Given the description of an element on the screen output the (x, y) to click on. 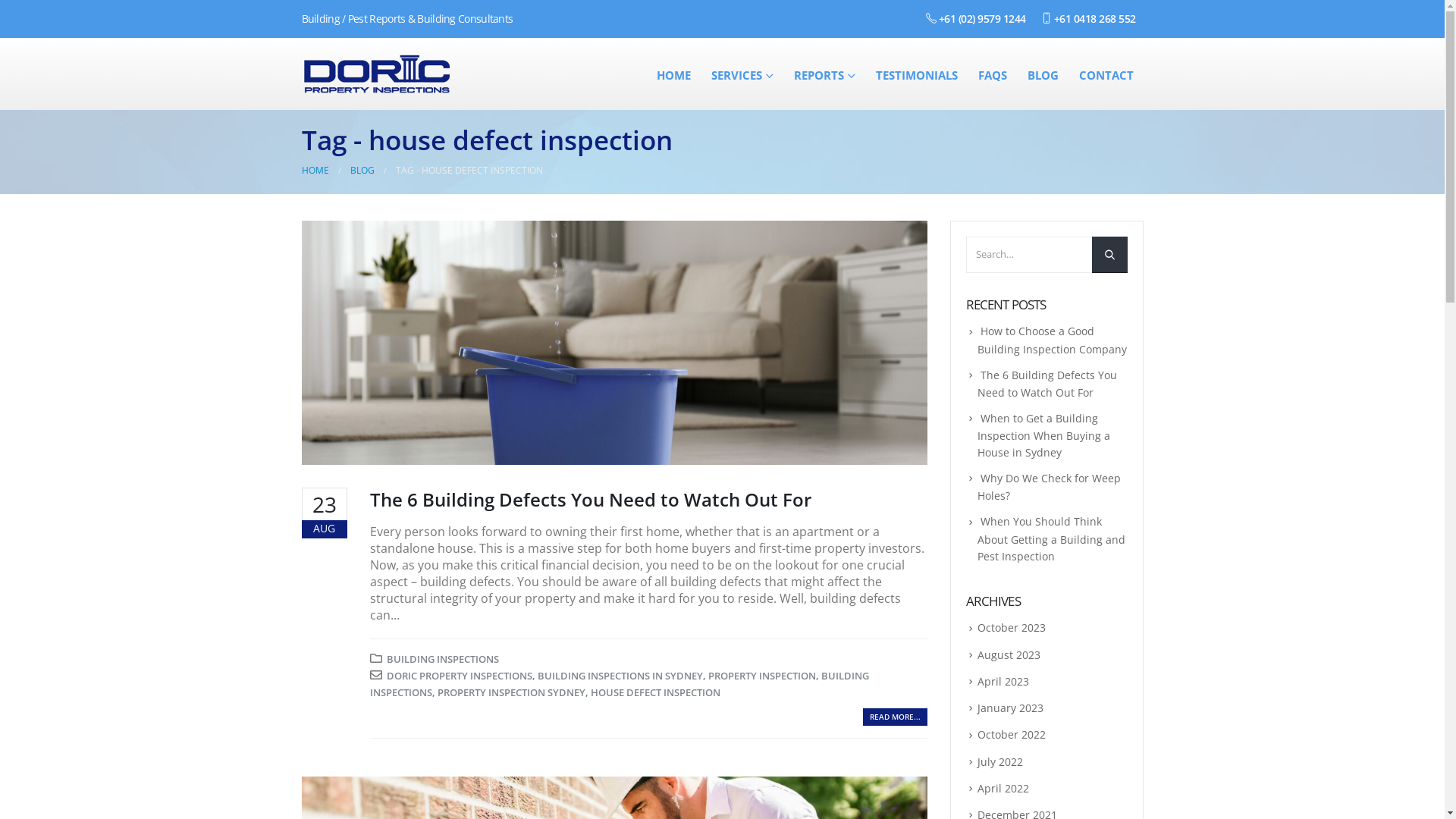
HOME Element type: text (315, 170)
+61 0418 268 552 Element type: text (1087, 18)
BLOG Element type: text (362, 170)
The 6 Building Defects You Need to Watch Out For Element type: text (1046, 383)
PROPERTY INSPECTION Element type: text (761, 675)
BUILDING INSPECTIONS Element type: text (619, 683)
FAQS Element type: text (991, 73)
CONTACT Element type: text (1106, 73)
The 6 Building Defects You Need to Watch Out For Element type: text (590, 498)
BLOG Element type: text (1042, 73)
PROPERTY INSPECTION SYDNEY Element type: text (510, 692)
+61 (02) 9579 1244 Element type: text (975, 18)
Why Do We Check for Weep Holes? Element type: text (1048, 486)
How to Choose a Good Building Inspection Company Element type: text (1051, 339)
HOUSE DEFECT INSPECTION Element type: text (654, 692)
January 2023 Element type: text (1009, 707)
August 2023 Element type: text (1007, 654)
TESTIMONIALS Element type: text (916, 73)
October 2023 Element type: text (1010, 627)
READ MORE... Element type: text (894, 716)
BUILDING INSPECTIONS IN SYDNEY Element type: text (619, 675)
April 2023 Element type: text (1002, 681)
HOME Element type: text (672, 73)
SERVICES Element type: text (741, 73)
DORIC PROPERTY INSPECTIONS Element type: text (459, 675)
July 2022 Element type: text (999, 761)
BUILDING INSPECTIONS Element type: text (442, 658)
April 2022 Element type: text (1002, 788)
October 2022 Element type: text (1010, 734)
REPORTS Element type: text (824, 73)
